Given the description of an element on the screen output the (x, y) to click on. 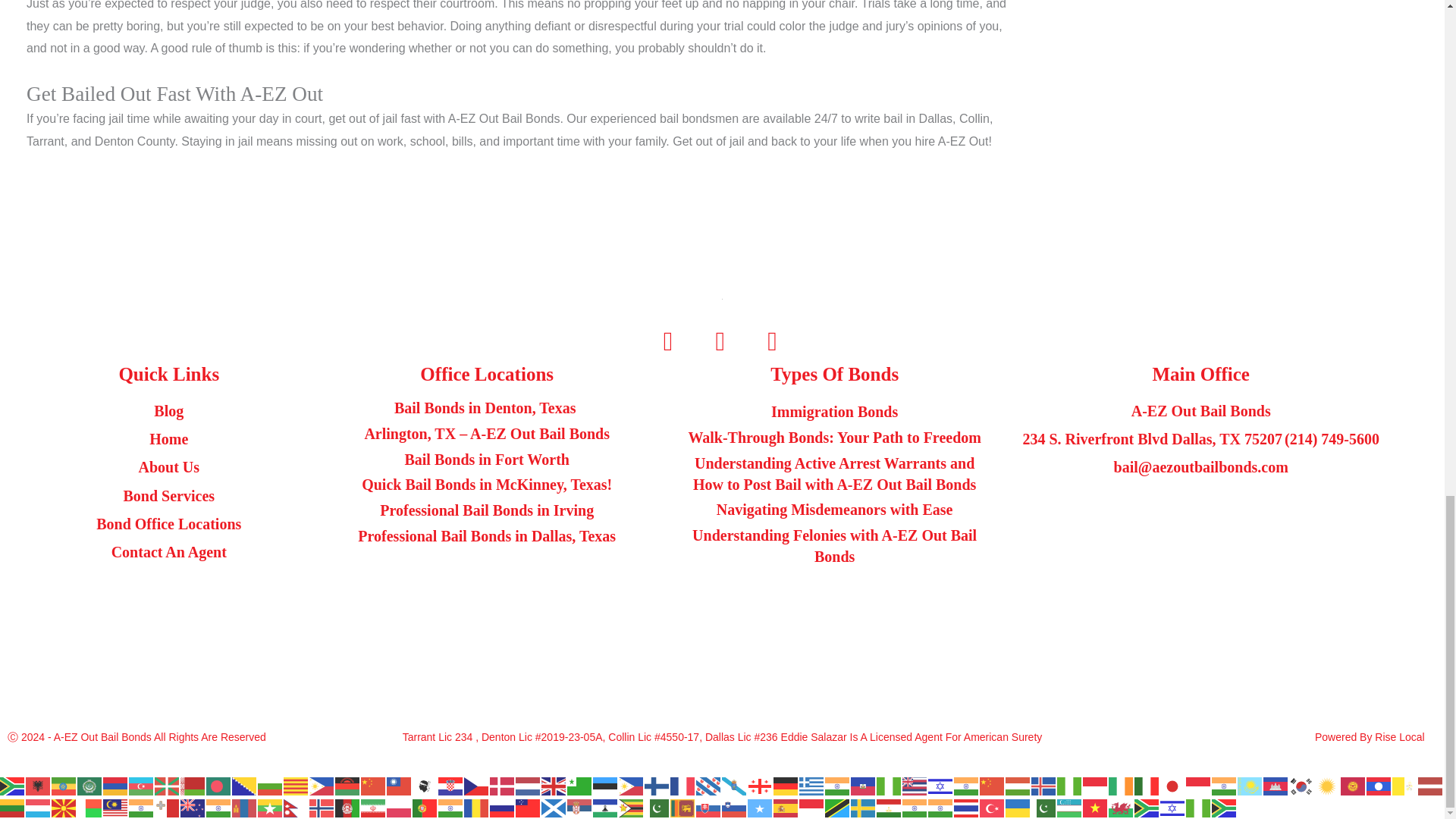
Bulgarian (270, 784)
Basque (167, 784)
Arabic (90, 784)
Belarusian (193, 784)
Armenian (116, 784)
Home (168, 439)
Bengali (218, 784)
Contact An Agent (168, 552)
Bosnian (244, 784)
Blog (168, 411)
Bail Bonds Dallas 234 S. Riverfront Blvd Dallas, TX 75207 (1201, 585)
Afrikaans (13, 784)
Albanian (38, 784)
Bond Services (168, 496)
Bail Bonds in Denton, Texas  (486, 407)
